Given the description of an element on the screen output the (x, y) to click on. 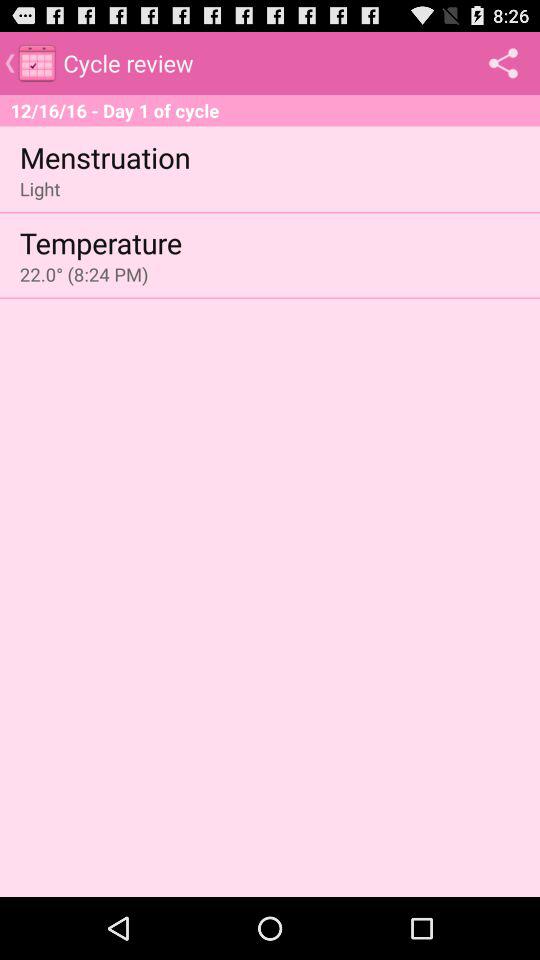
launch item above 22 0 8 item (100, 242)
